Given the description of an element on the screen output the (x, y) to click on. 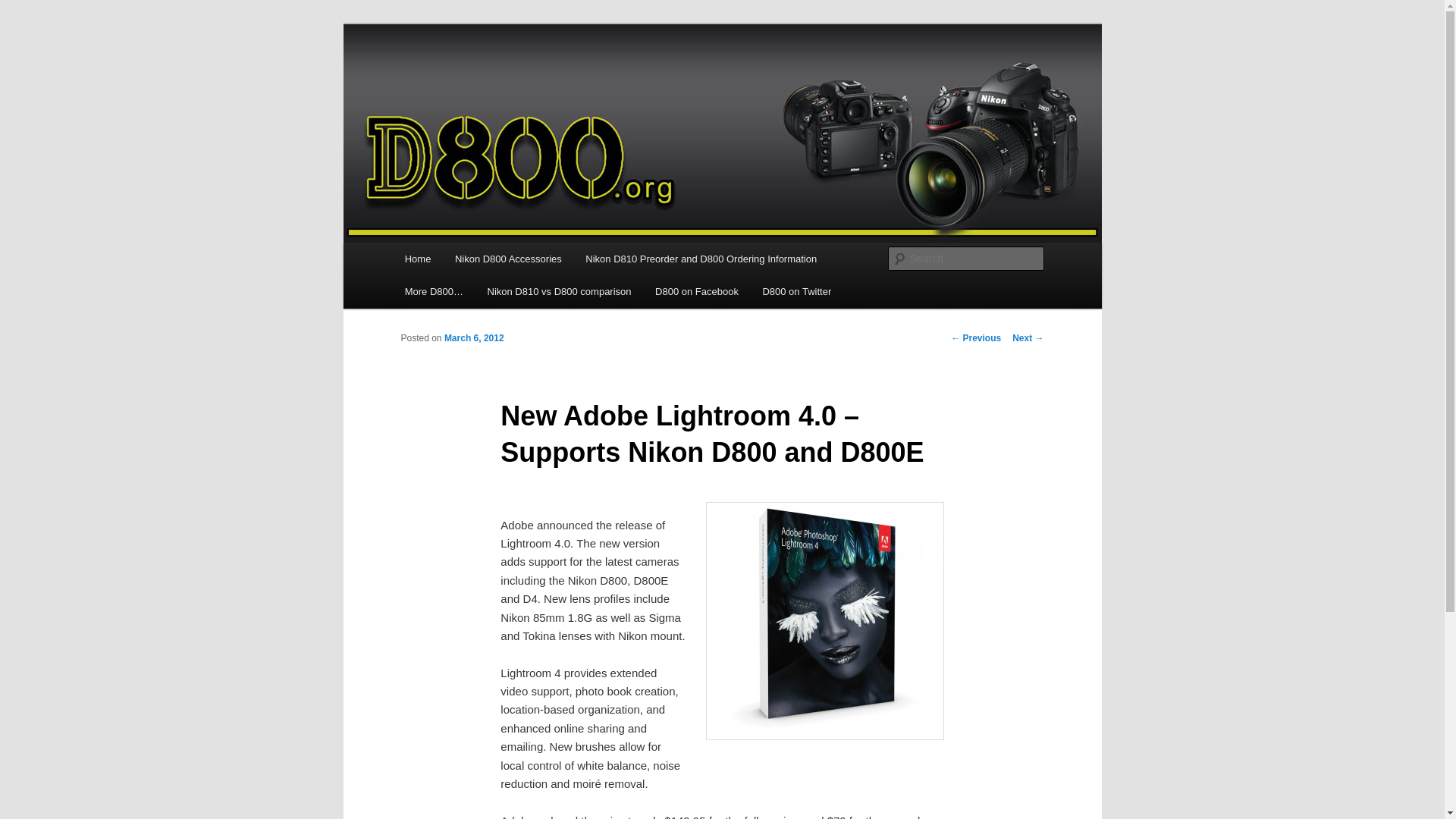
Search (24, 8)
Nikon D800 (462, 78)
D800 on Facebook (696, 291)
Nikon D810 vs D800 comparison (559, 291)
March 6, 2012 (473, 337)
Nikon D800 Order Information (700, 258)
Nikon D800 Accessories (507, 258)
Home (417, 258)
D800 on Facebook (696, 291)
D800 on Twitter (797, 291)
Nikon D810 Preorder and D800 Ordering Information (700, 258)
Nikon D800 Accessories (507, 258)
